Given the description of an element on the screen output the (x, y) to click on. 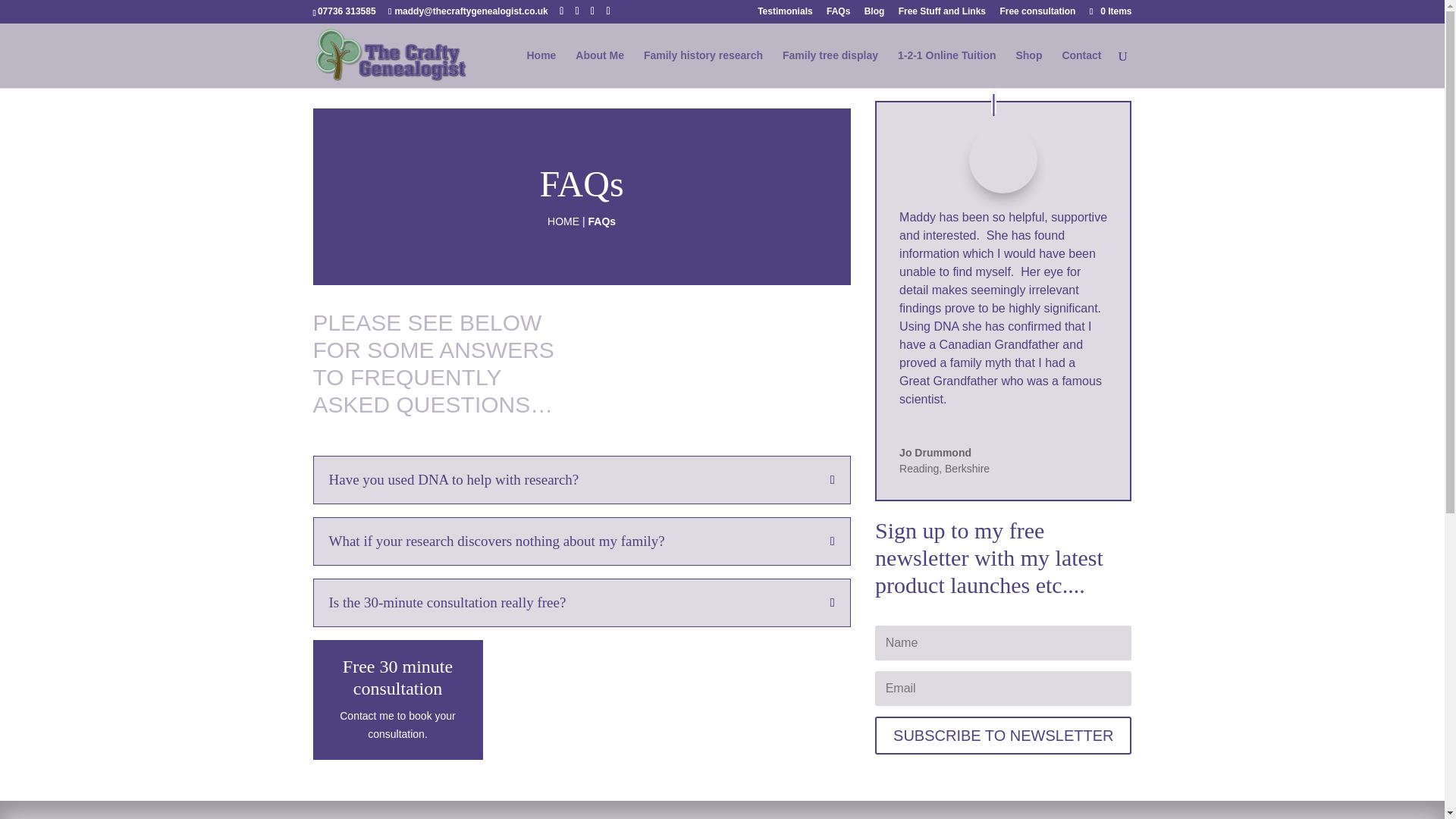
1-2-1 Online Tuition (946, 68)
FAQs (838, 14)
SUBSCRIBE TO NEWSLETTER (1003, 735)
Contact (1080, 68)
Family history research (702, 68)
About Me (599, 68)
Blog (874, 14)
Free consultation (1036, 14)
Testimonials (784, 14)
07736 313585 (346, 10)
